Given the description of an element on the screen output the (x, y) to click on. 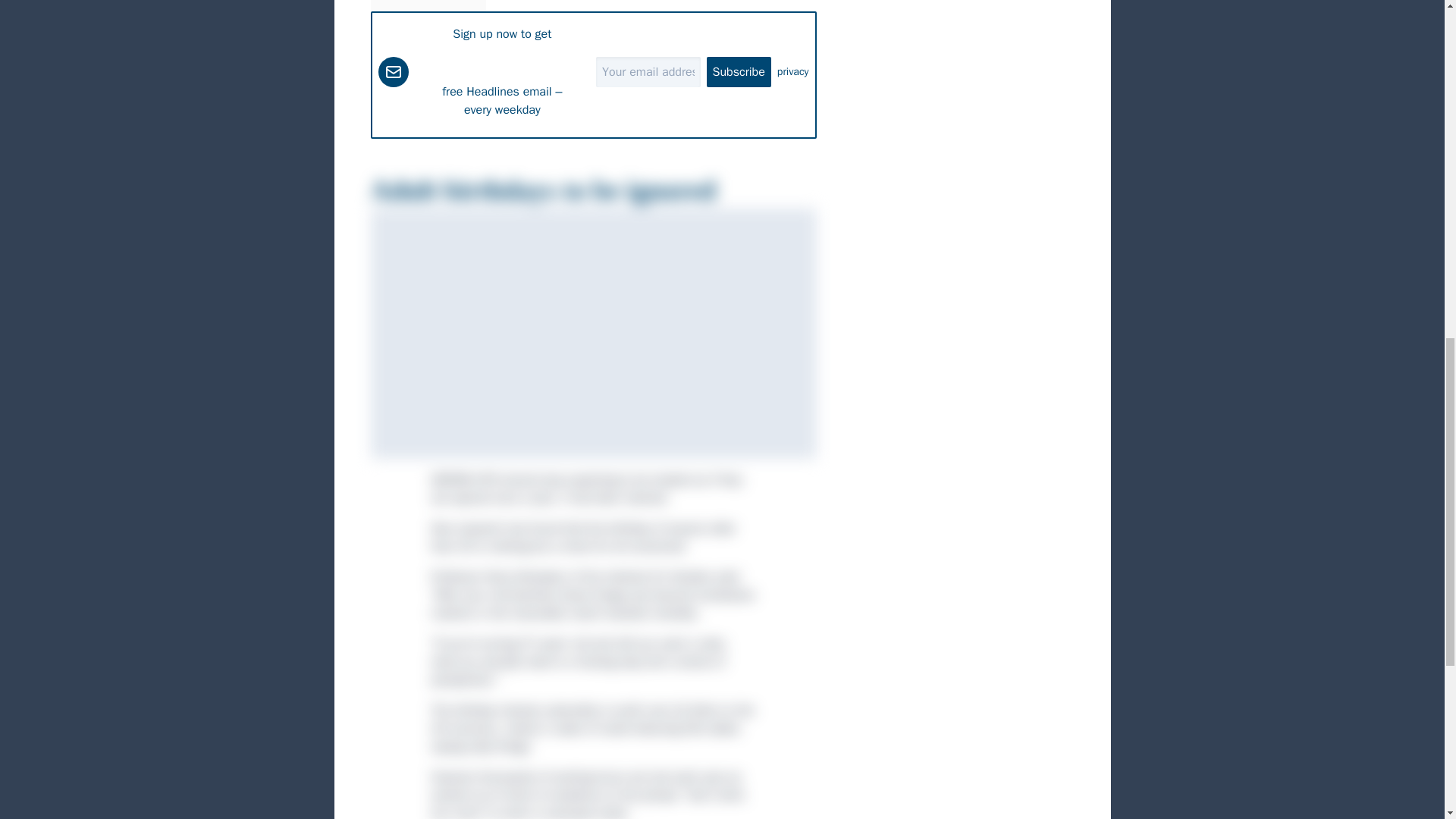
privacy (793, 70)
Subscribe (738, 71)
